Given the description of an element on the screen output the (x, y) to click on. 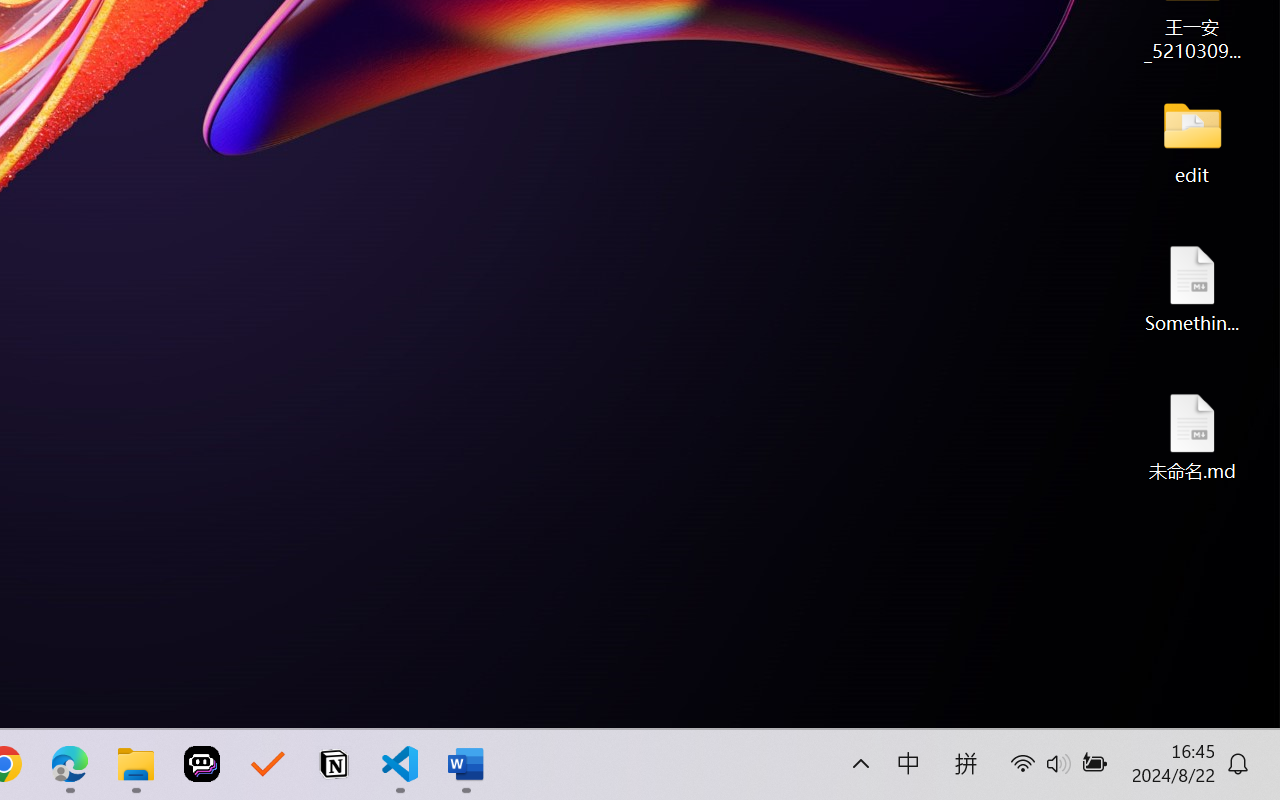
edit (1192, 140)
